Given the description of an element on the screen output the (x, y) to click on. 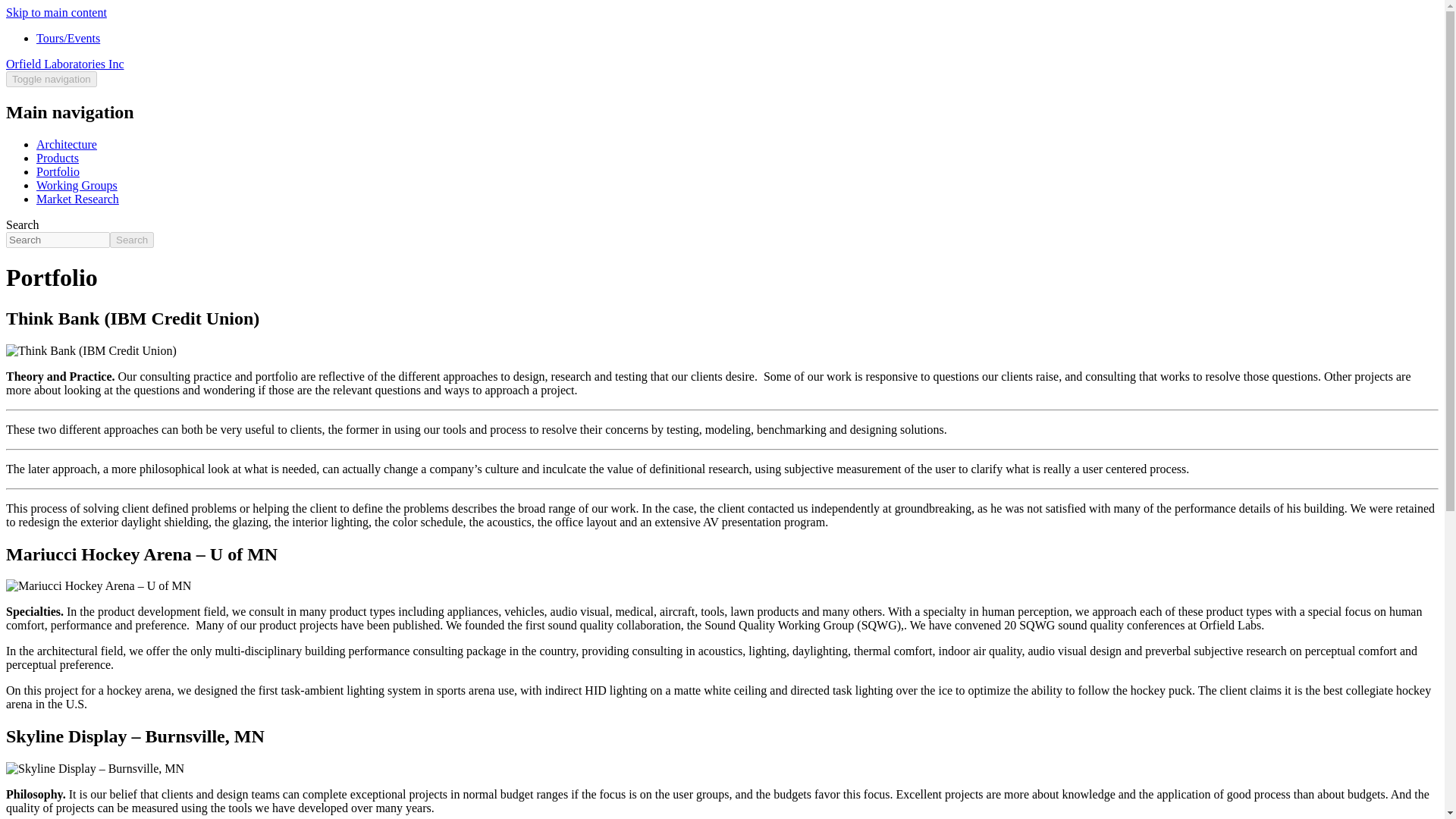
Skip to main content (55, 11)
Products (57, 157)
Working Groups (76, 185)
Portfolio (58, 171)
Enter the terms you wish to search for. (57, 239)
Market Research (77, 198)
Search (132, 239)
Toggle navigation (51, 78)
Architecture (66, 144)
Orfield Laboratories Inc (64, 63)
